Given the description of an element on the screen output the (x, y) to click on. 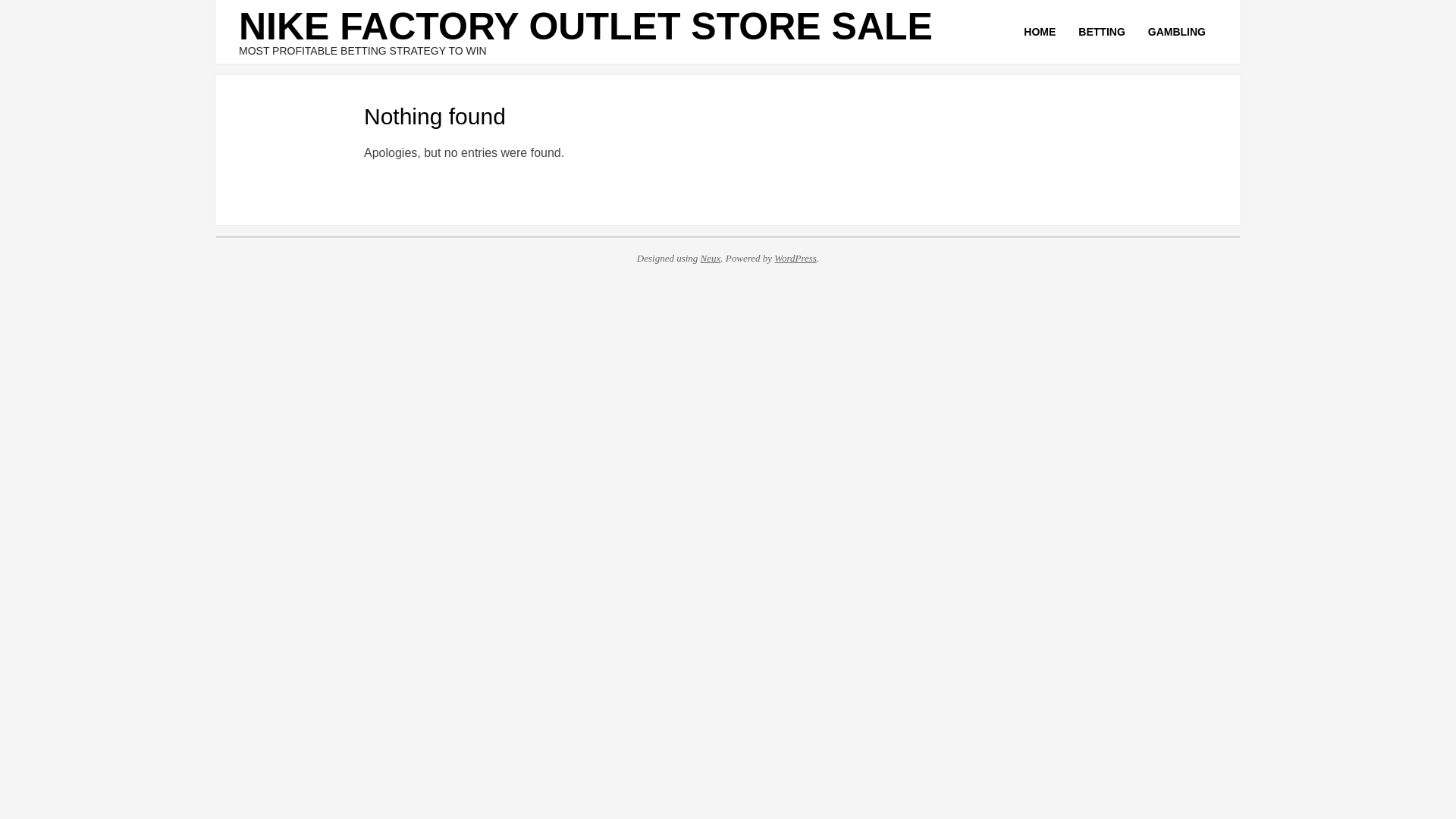
GAMBLING (1177, 31)
HOME (1039, 31)
BETTING (1101, 31)
NIKE FACTORY OUTLET STORE SALE (585, 25)
WordPress (795, 257)
Neux WordPress Theme (710, 257)
Neux (710, 257)
